Given the description of an element on the screen output the (x, y) to click on. 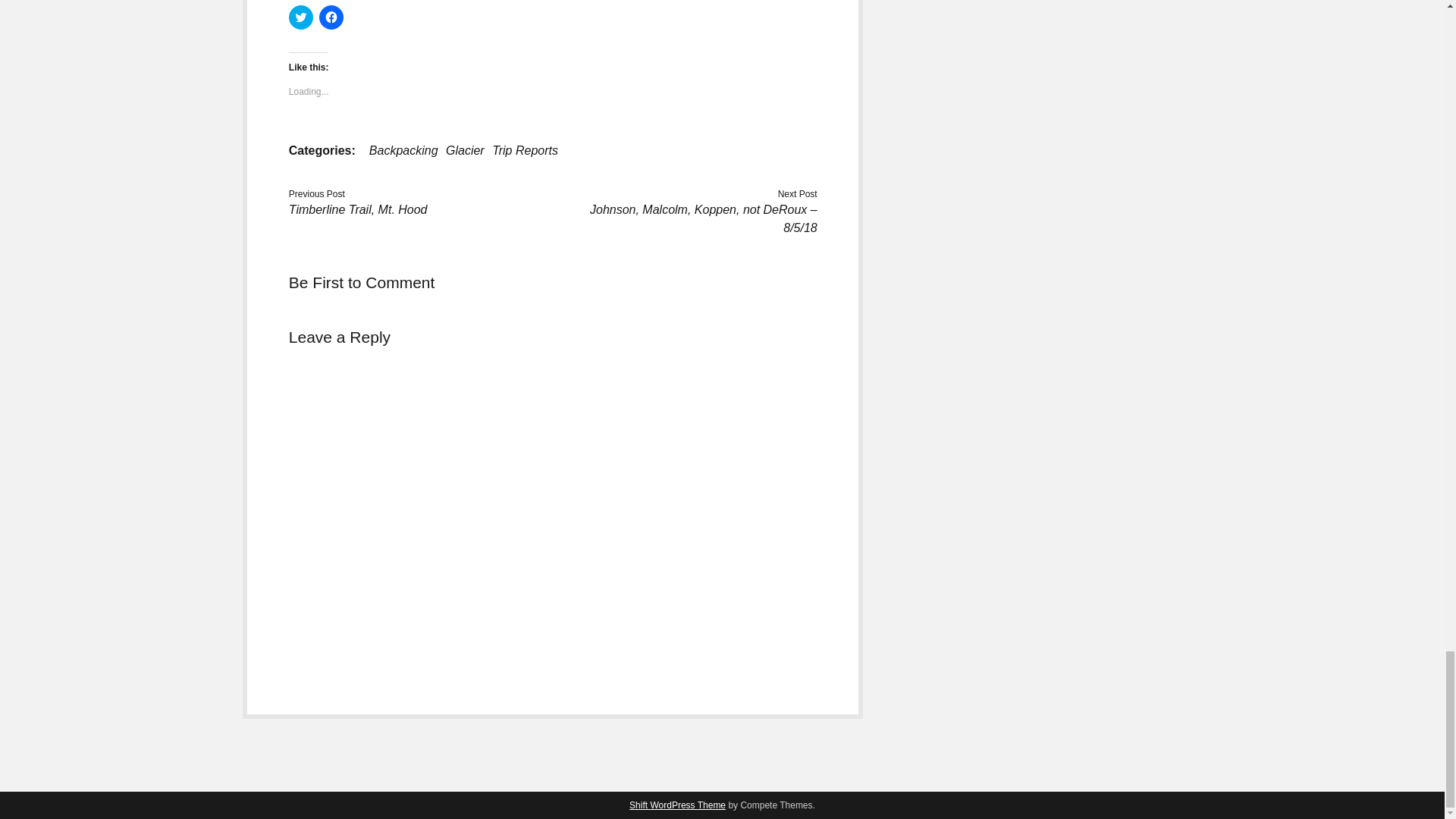
Backpacking (403, 150)
Glacier (464, 150)
Trip Reports (524, 150)
Timberline Trail, Mt. Hood (358, 209)
